Given the description of an element on the screen output the (x, y) to click on. 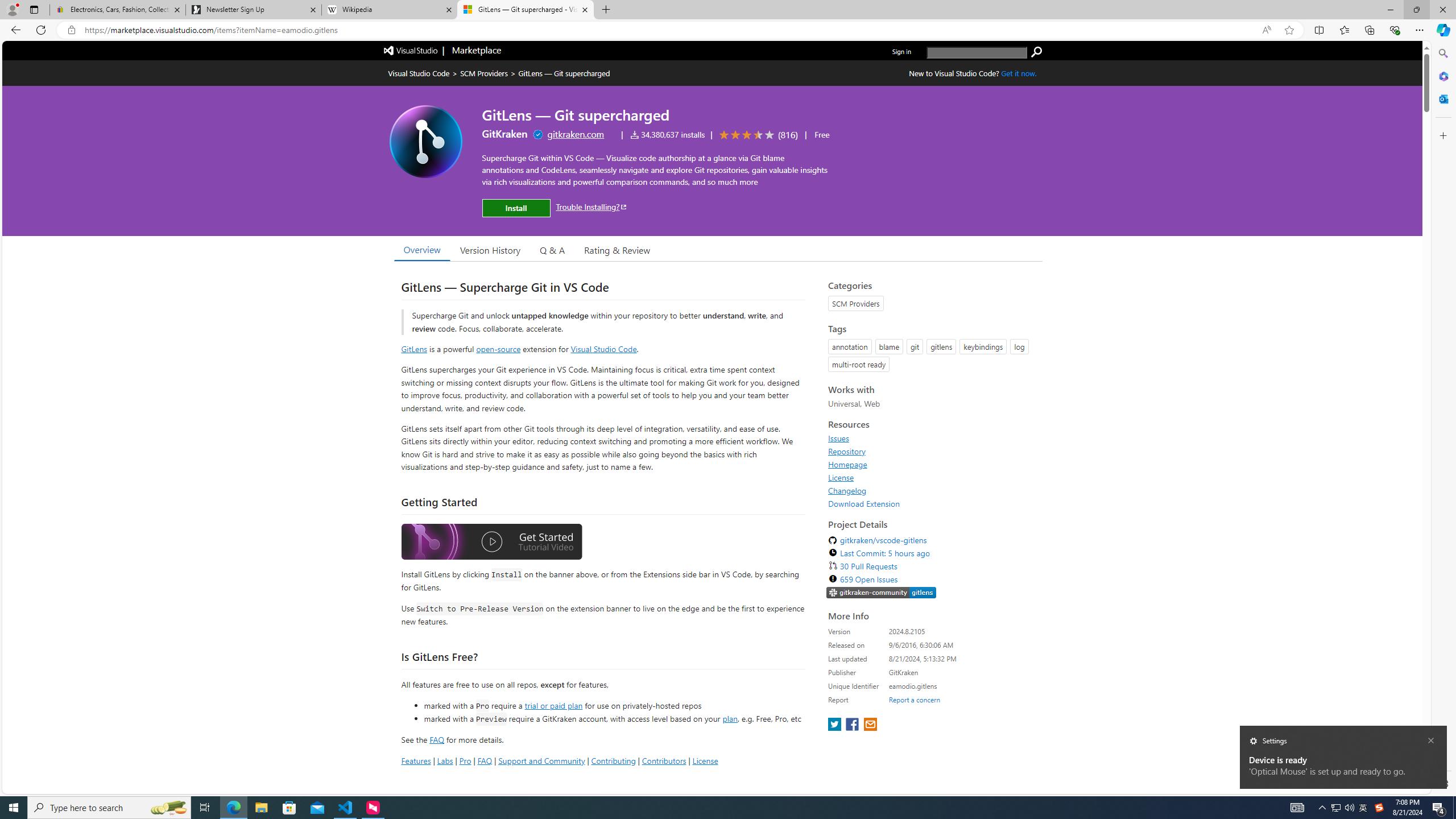
Download Extension (931, 503)
Pro (464, 760)
Repository (931, 451)
Issues (931, 437)
Rating & Review (618, 249)
Changelog (847, 490)
Install (515, 208)
Version History (489, 249)
